Given the description of an element on the screen output the (x, y) to click on. 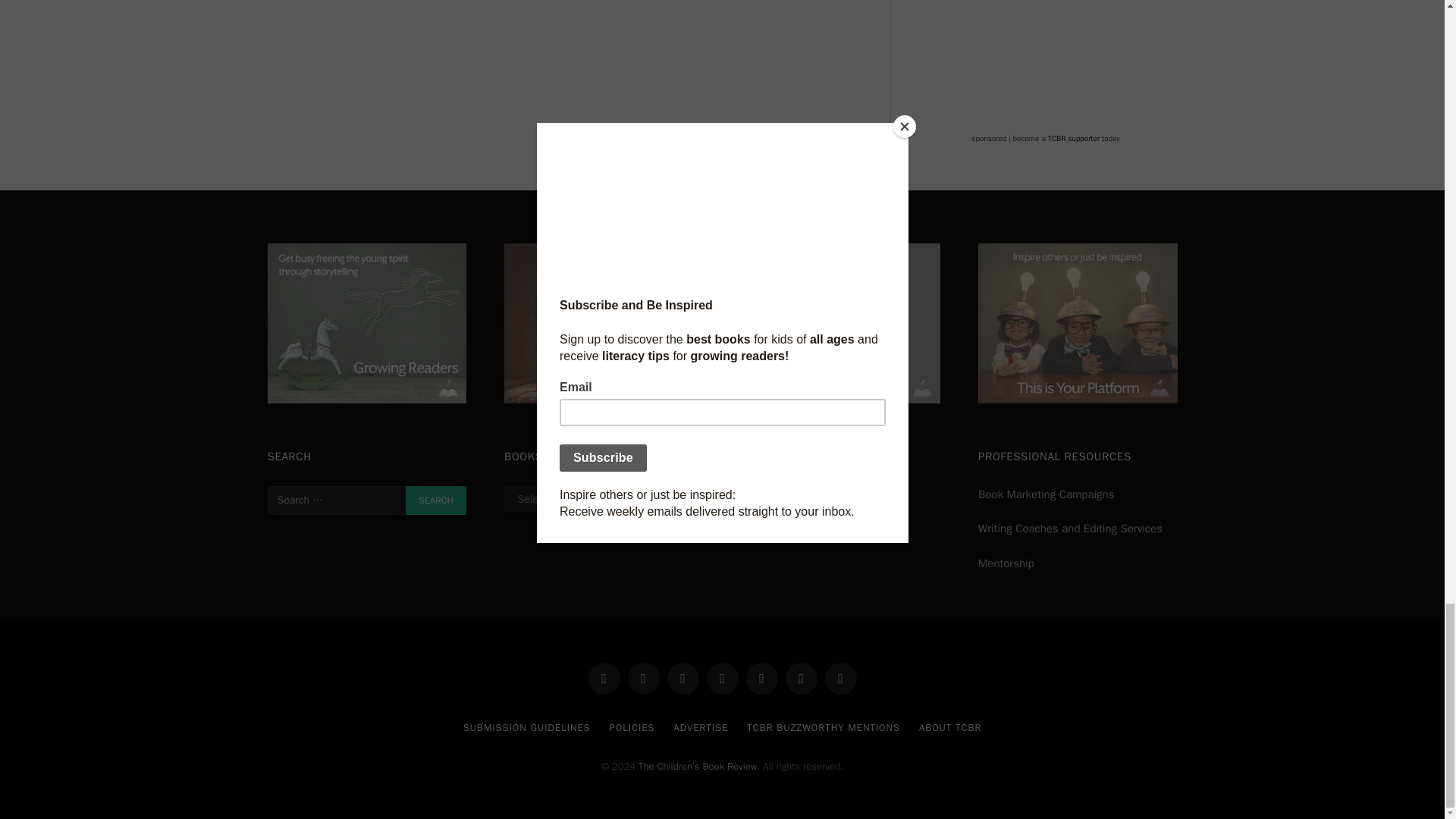
Search (435, 500)
Search (435, 500)
